Given the description of an element on the screen output the (x, y) to click on. 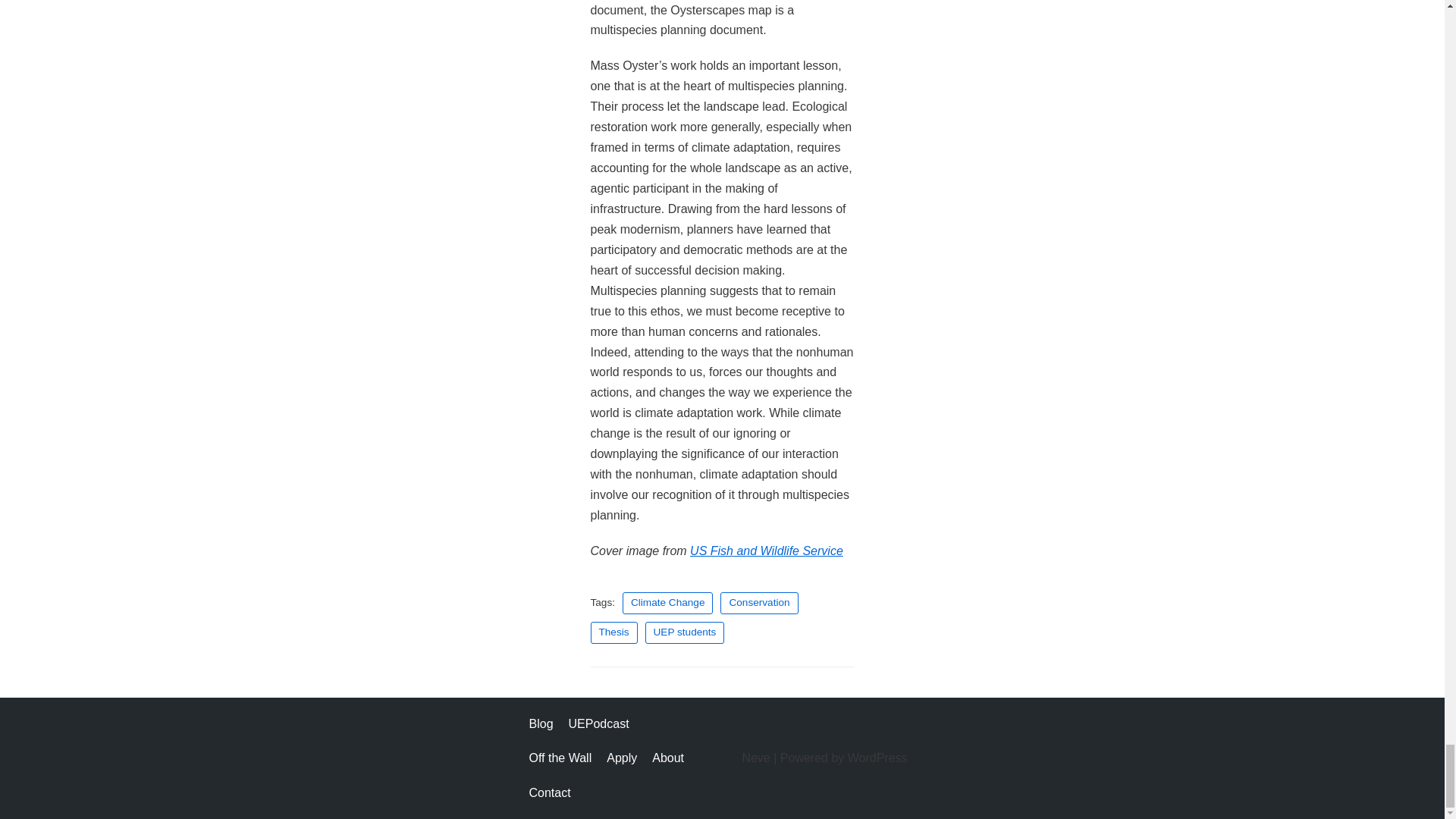
US Fish and Wildlife Service (766, 550)
Climate Change (668, 603)
Off the Wall (560, 758)
Climate Change (668, 603)
Thesis (613, 632)
Thesis (613, 632)
UEPodcast (598, 723)
Apply (622, 758)
Neve (755, 757)
Conservation (758, 603)
About (668, 758)
Blog (541, 723)
UEP students (685, 632)
UEP students (685, 632)
Contact (549, 792)
